Given the description of an element on the screen output the (x, y) to click on. 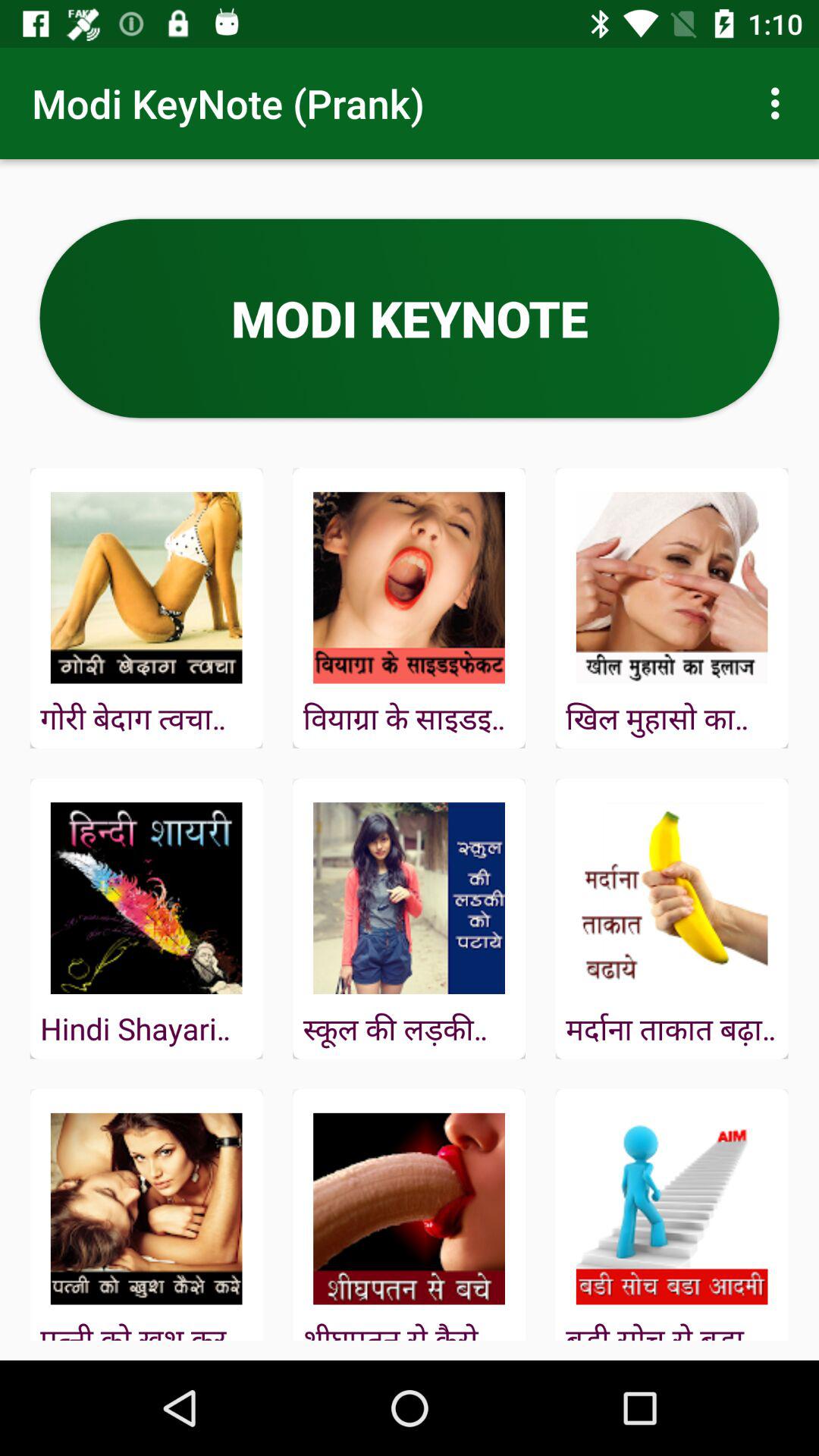
select the item above the modi keynote item (779, 103)
